Given the description of an element on the screen output the (x, y) to click on. 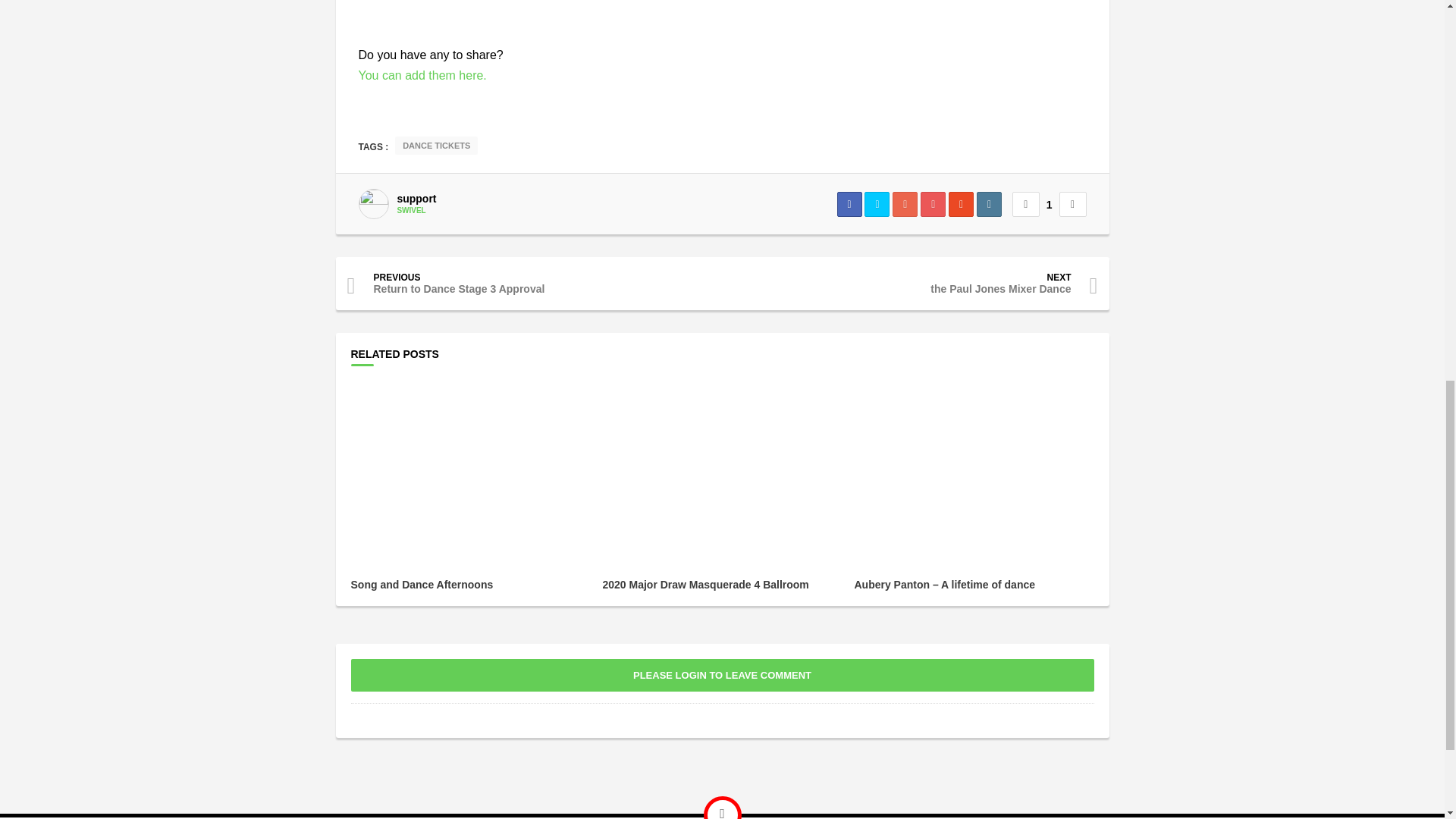
Share on StumbleUpon (961, 204)
DANCE TICKETS (435, 145)
Share on Pinterest (932, 204)
Share on Twitter (876, 204)
You can add them here. (422, 74)
Share on Facebook (849, 204)
Share on Tumblr (988, 204)
Downvote (1072, 204)
Upvote (1025, 204)
